Given the description of an element on the screen output the (x, y) to click on. 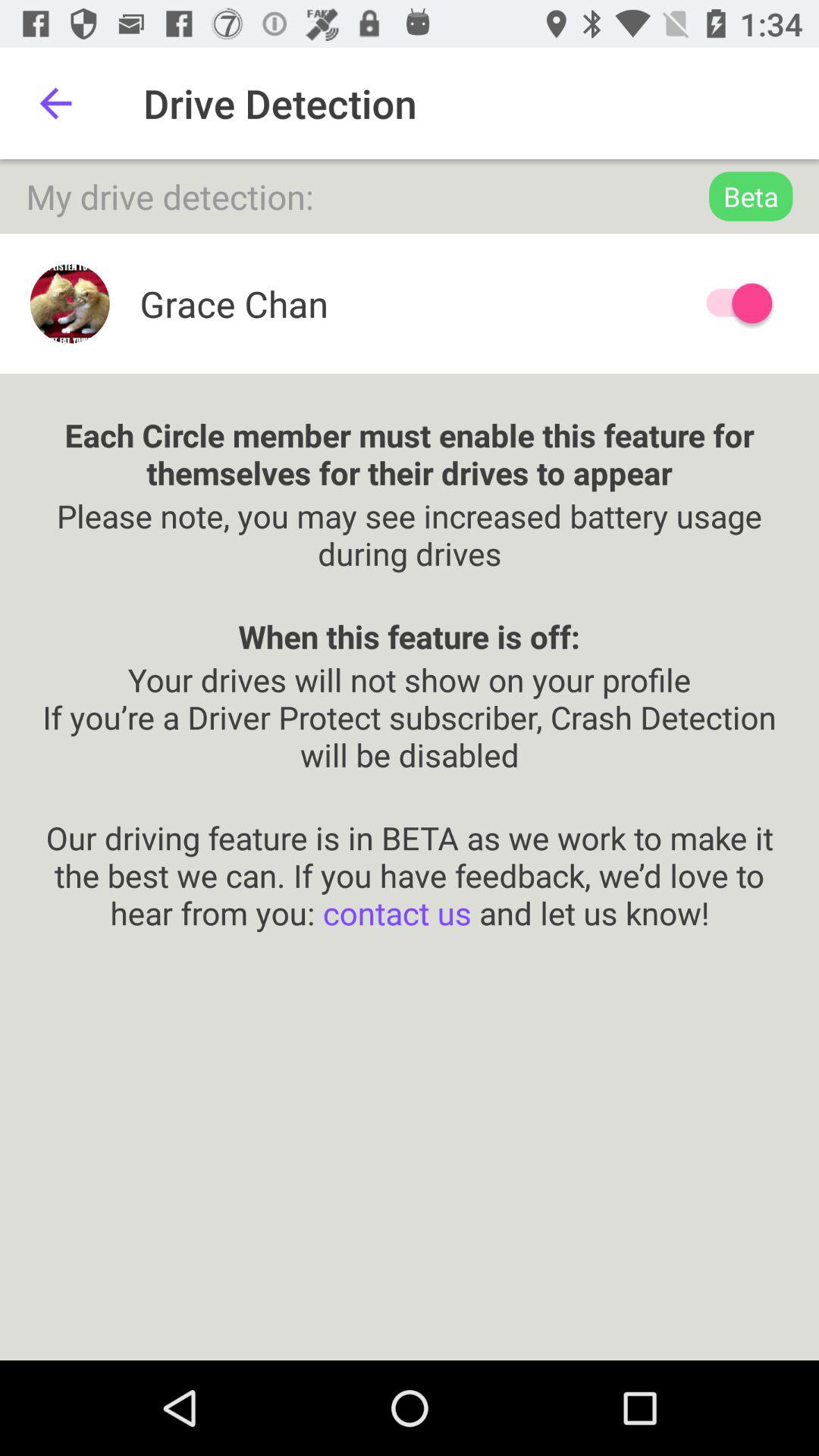
click item to the left of drive detection item (55, 103)
